Given the description of an element on the screen output the (x, y) to click on. 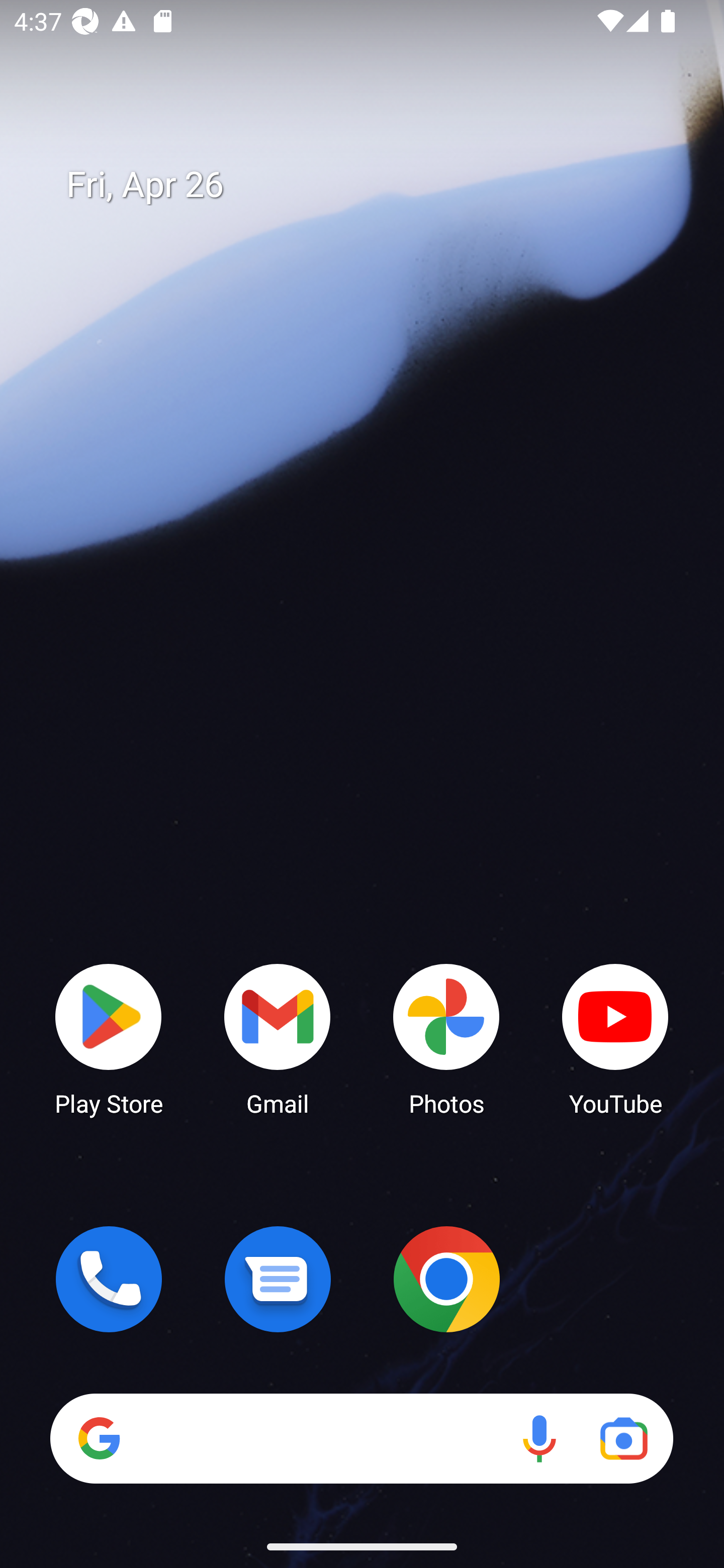
Fri, Apr 26 (375, 184)
Play Store (108, 1038)
Gmail (277, 1038)
Photos (445, 1038)
YouTube (615, 1038)
Phone (108, 1279)
Messages (277, 1279)
Chrome (446, 1279)
Search Voice search Google Lens (361, 1438)
Voice search (539, 1438)
Google Lens (623, 1438)
